Given the description of an element on the screen output the (x, y) to click on. 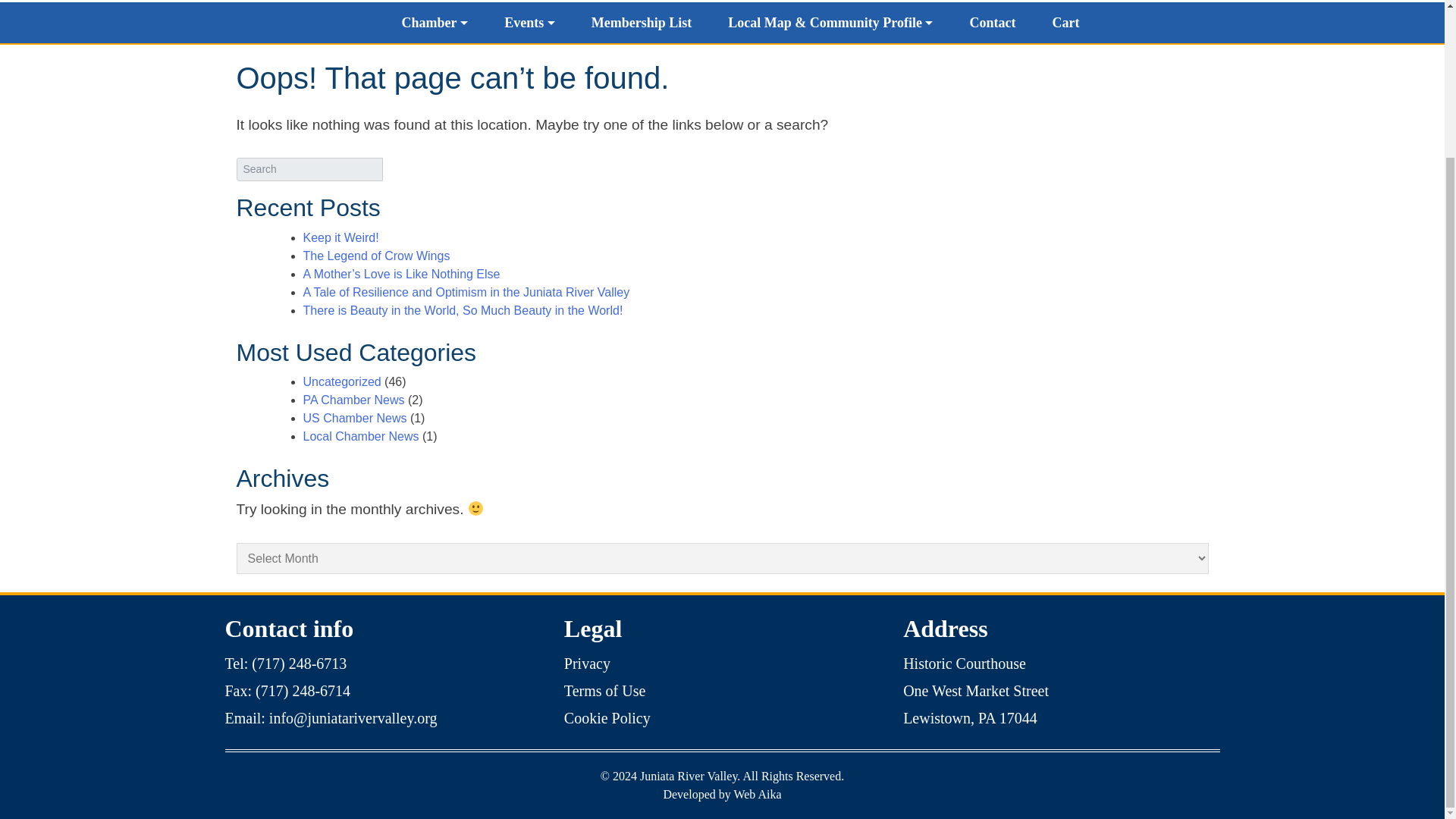
Membership List (641, 22)
Contact (991, 22)
PA Chamber News (353, 399)
Keep it Weird! (340, 237)
There is Beauty in the World, So Much Beauty in the World! (462, 309)
Cart (1065, 22)
The Legend of Crow Wings (375, 255)
Uncategorized (341, 381)
Events (529, 22)
US Chamber News (354, 418)
Chamber (435, 22)
